Given the description of an element on the screen output the (x, y) to click on. 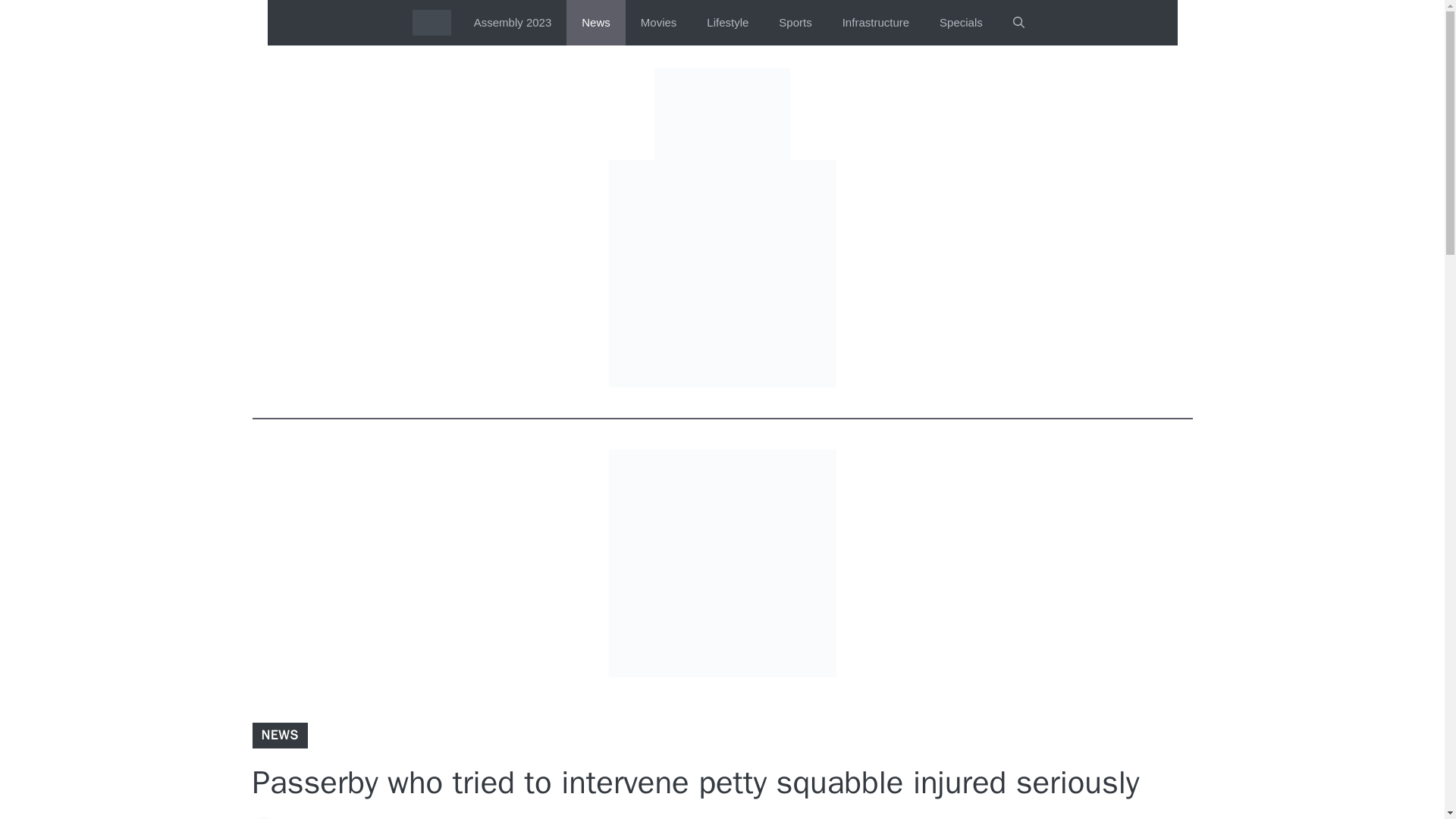
Movies (659, 22)
News (596, 22)
Lifestyle (726, 22)
NEWS (279, 734)
Infrastructure (875, 22)
Assembly 2023 (512, 22)
Specials (960, 22)
Sports (794, 22)
All About Belgaum (431, 22)
